Given the description of an element on the screen output the (x, y) to click on. 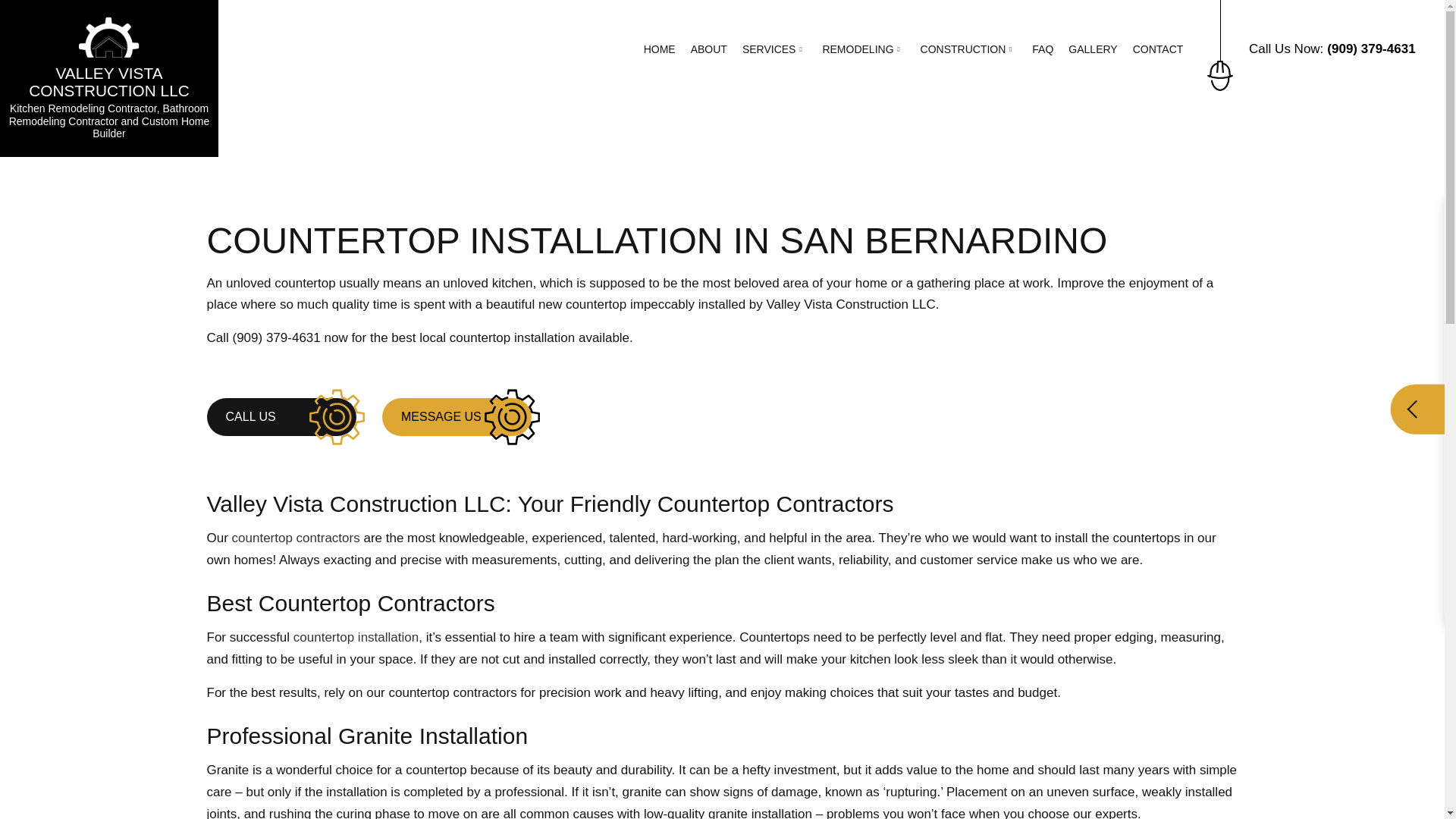
Learn more about Countertop Installation (356, 636)
Send us a message (456, 416)
Valley Vista Construction LLC (108, 35)
Valley Vista Construction LLC (109, 81)
Learn more about General Contractors (295, 537)
